Given the description of an element on the screen output the (x, y) to click on. 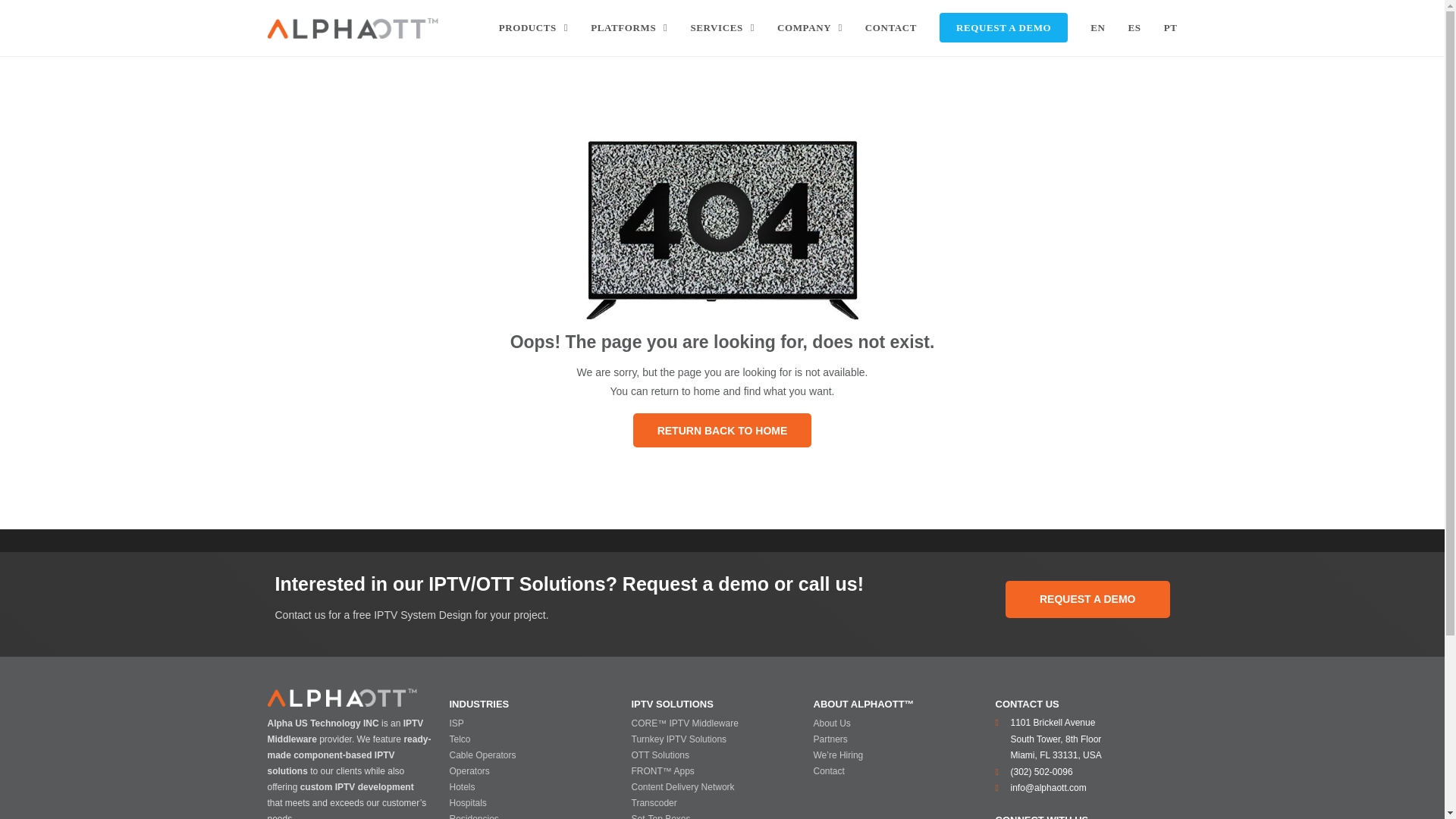
SERVICES (721, 28)
PRODUCTS (533, 28)
PLATFORMS (628, 28)
CONTACT (890, 28)
COMPANY (809, 28)
REQUEST A DEMO (1003, 28)
